Given the description of an element on the screen output the (x, y) to click on. 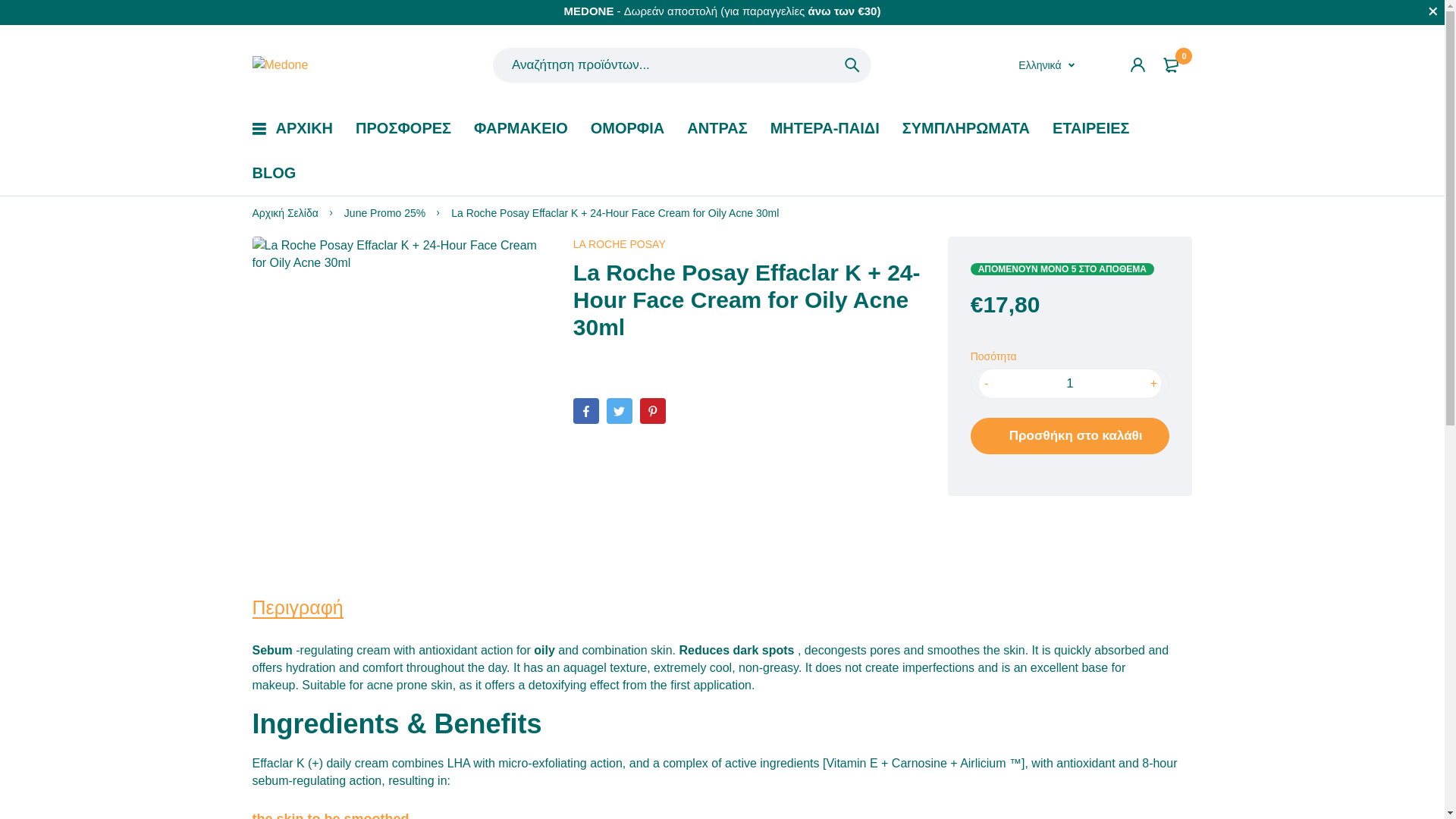
Pinterest (652, 411)
Twitter (619, 411)
Medone (279, 64)
1 (1069, 383)
0 (1173, 64)
Facebook (585, 411)
